Given the description of an element on the screen output the (x, y) to click on. 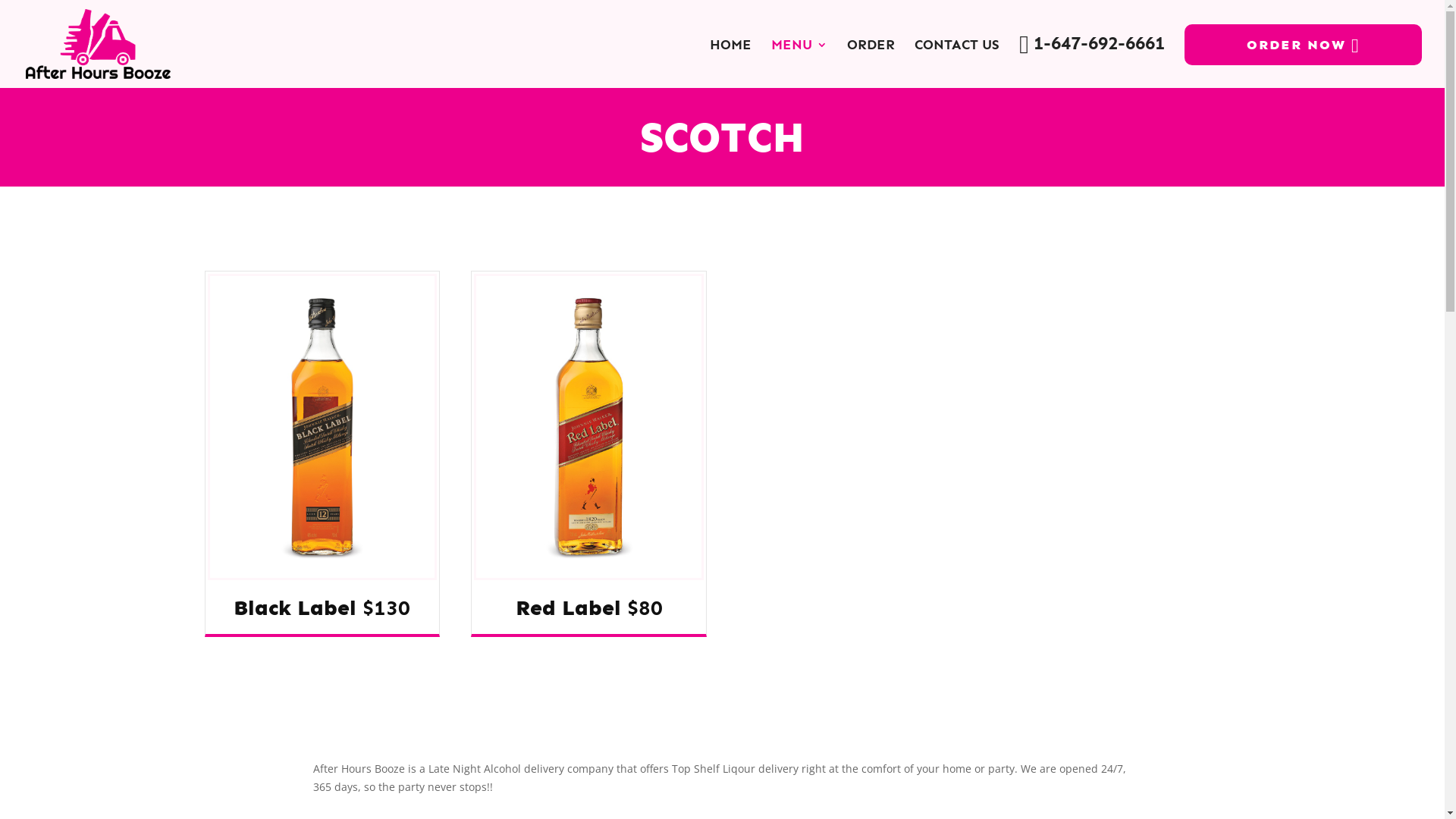
HOME Element type: text (730, 44)
MENU Element type: text (799, 44)
CONTACT US Element type: text (956, 44)
red label-1 Element type: hover (588, 426)
ORDER Element type: text (870, 44)
black label-1 Element type: hover (322, 426)
